Given the description of an element on the screen output the (x, y) to click on. 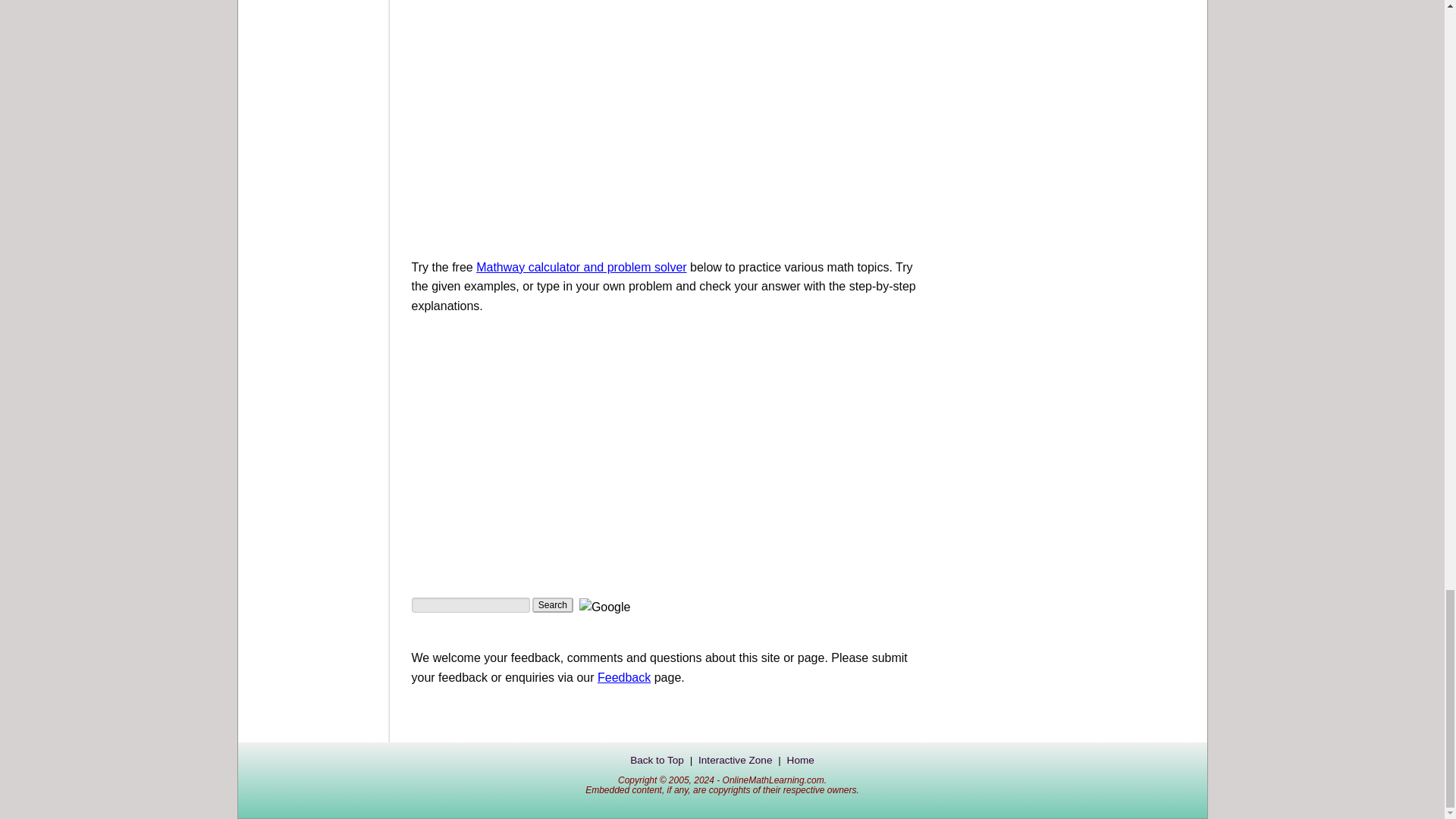
Home (800, 759)
Mathway Calculator Widget (580, 267)
Interactive Zone (734, 759)
Search (552, 604)
Mathway calculator and problem solver (580, 267)
Search (552, 604)
Back to Top (657, 759)
Mathway Calculator Widget (531, 436)
Feedback (623, 676)
